Given the description of an element on the screen output the (x, y) to click on. 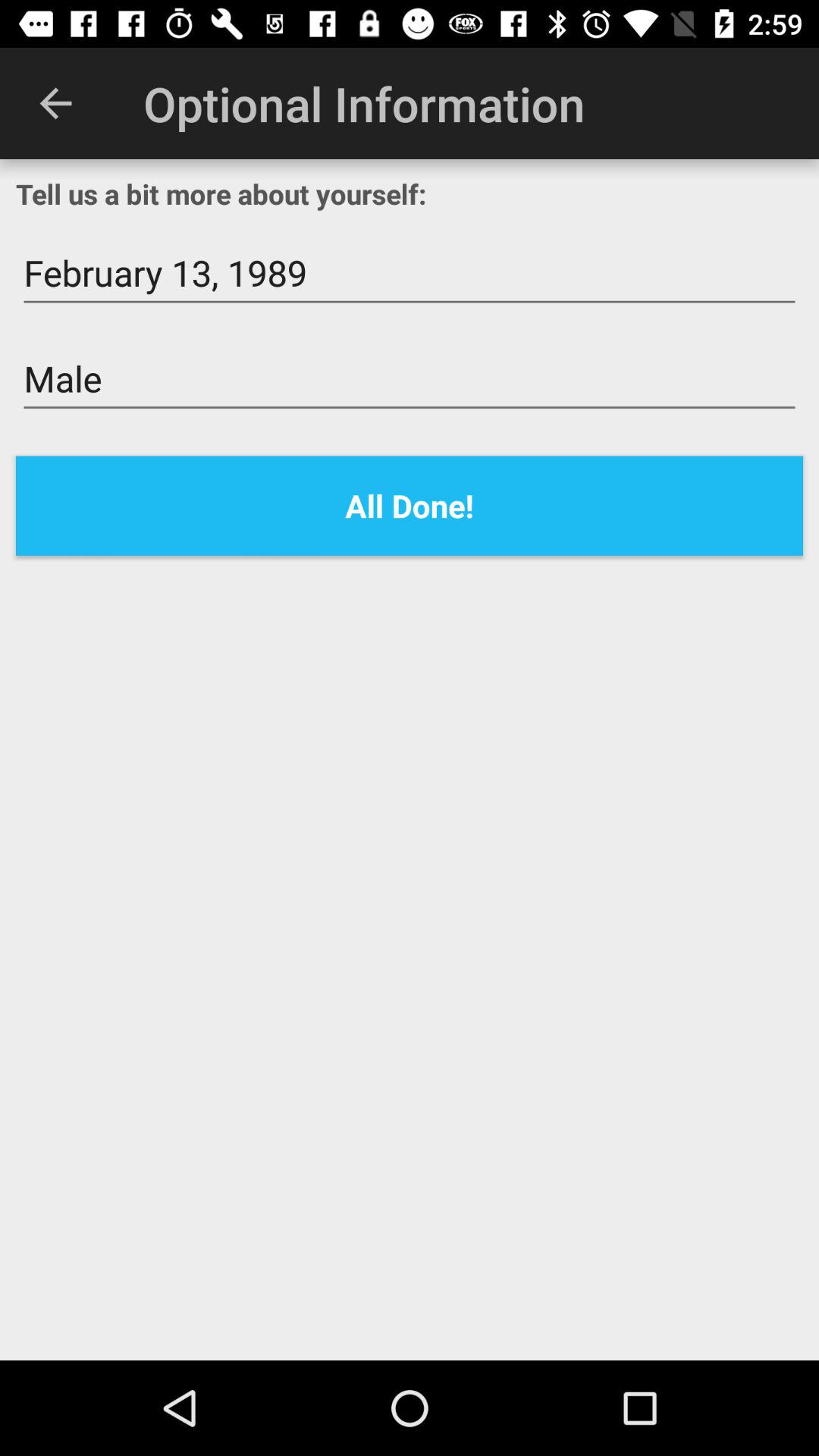
choose the item at the top left corner (55, 103)
